Given the description of an element on the screen output the (x, y) to click on. 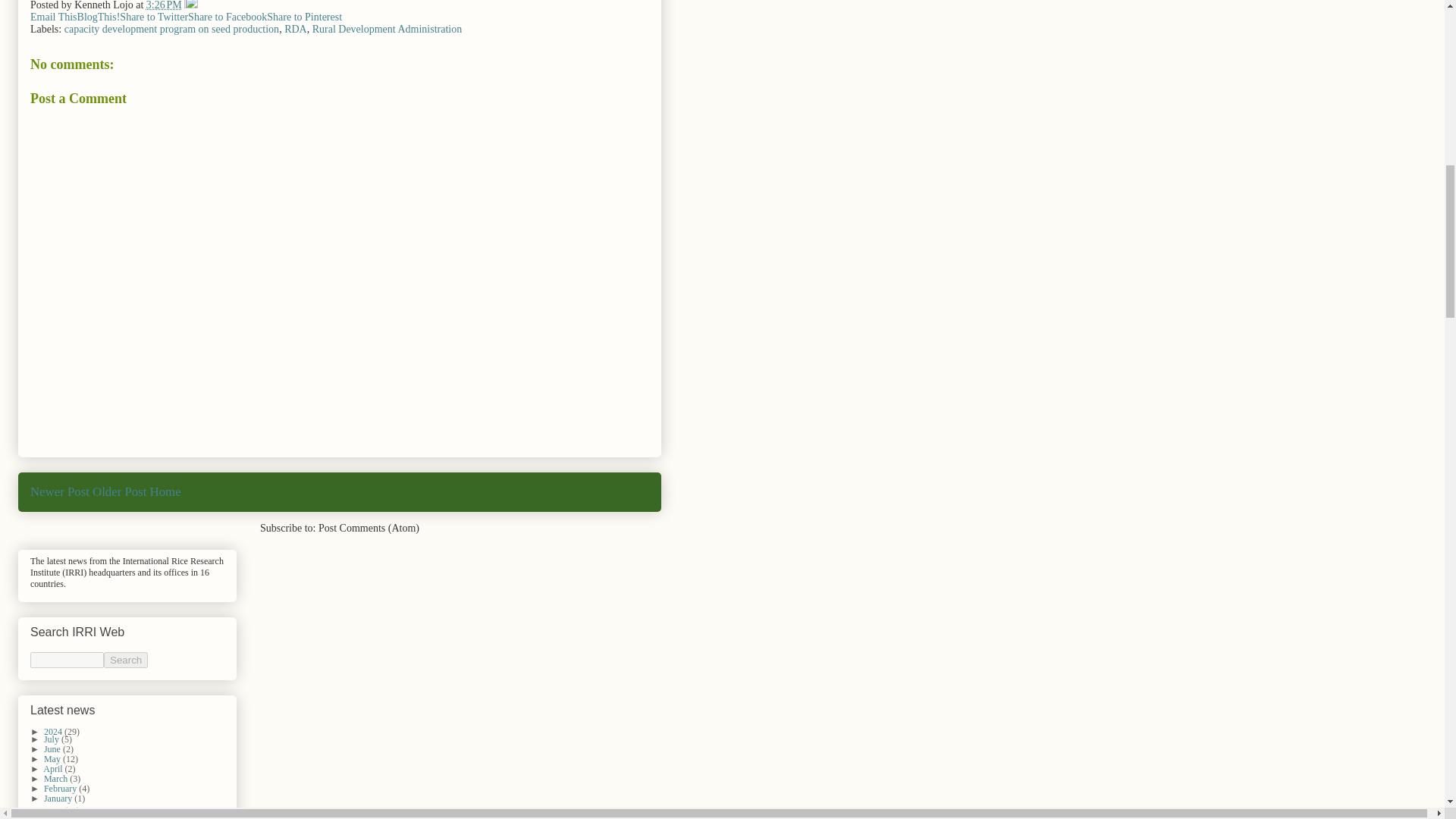
Search (125, 659)
May (52, 758)
June (52, 748)
Home (164, 491)
Rural Development Administration (388, 29)
RDA (295, 29)
search (66, 659)
BlogThis! (98, 16)
Share to Twitter (153, 16)
Share to Pinterest (304, 16)
Share to Pinterest (304, 16)
Older Post (120, 491)
permanent link (164, 5)
capacity development program on seed production (171, 29)
